Given the description of an element on the screen output the (x, y) to click on. 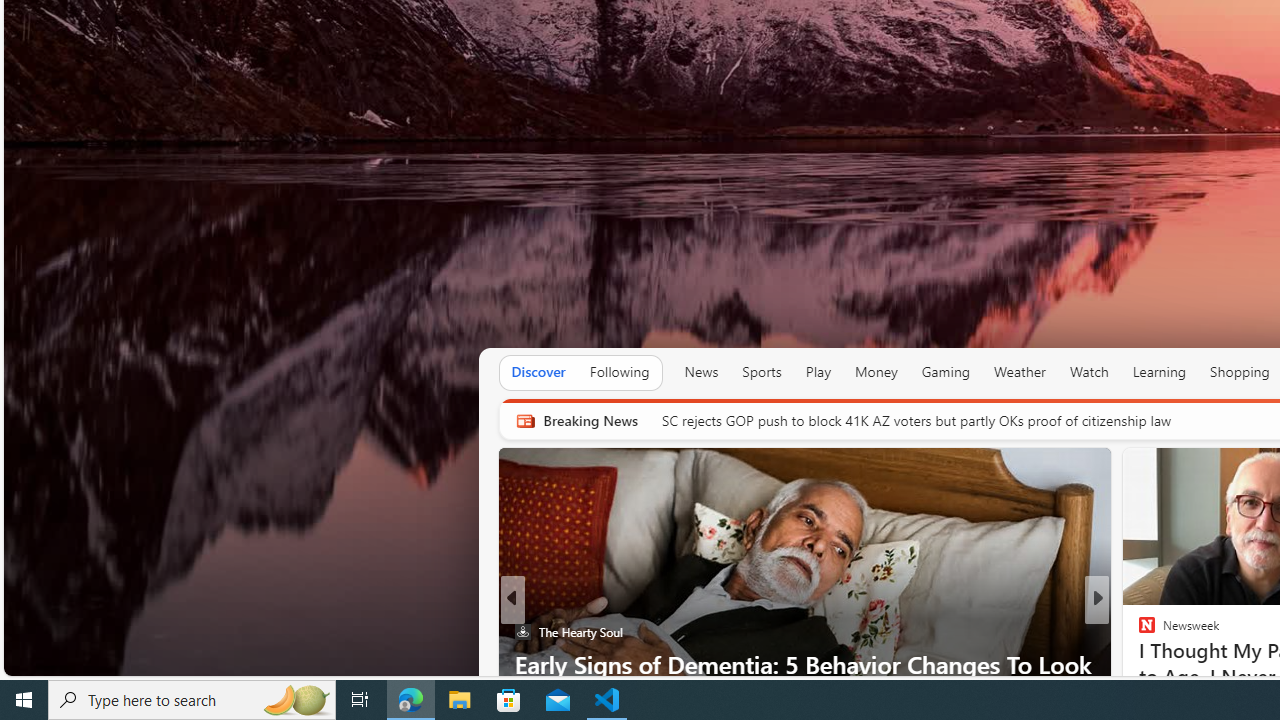
AskThis (1138, 663)
Retailshout (1138, 663)
Moneywise (1138, 632)
save70.com (1161, 632)
HuffPost (1138, 632)
The Hearty Soul (522, 632)
